Given the description of an element on the screen output the (x, y) to click on. 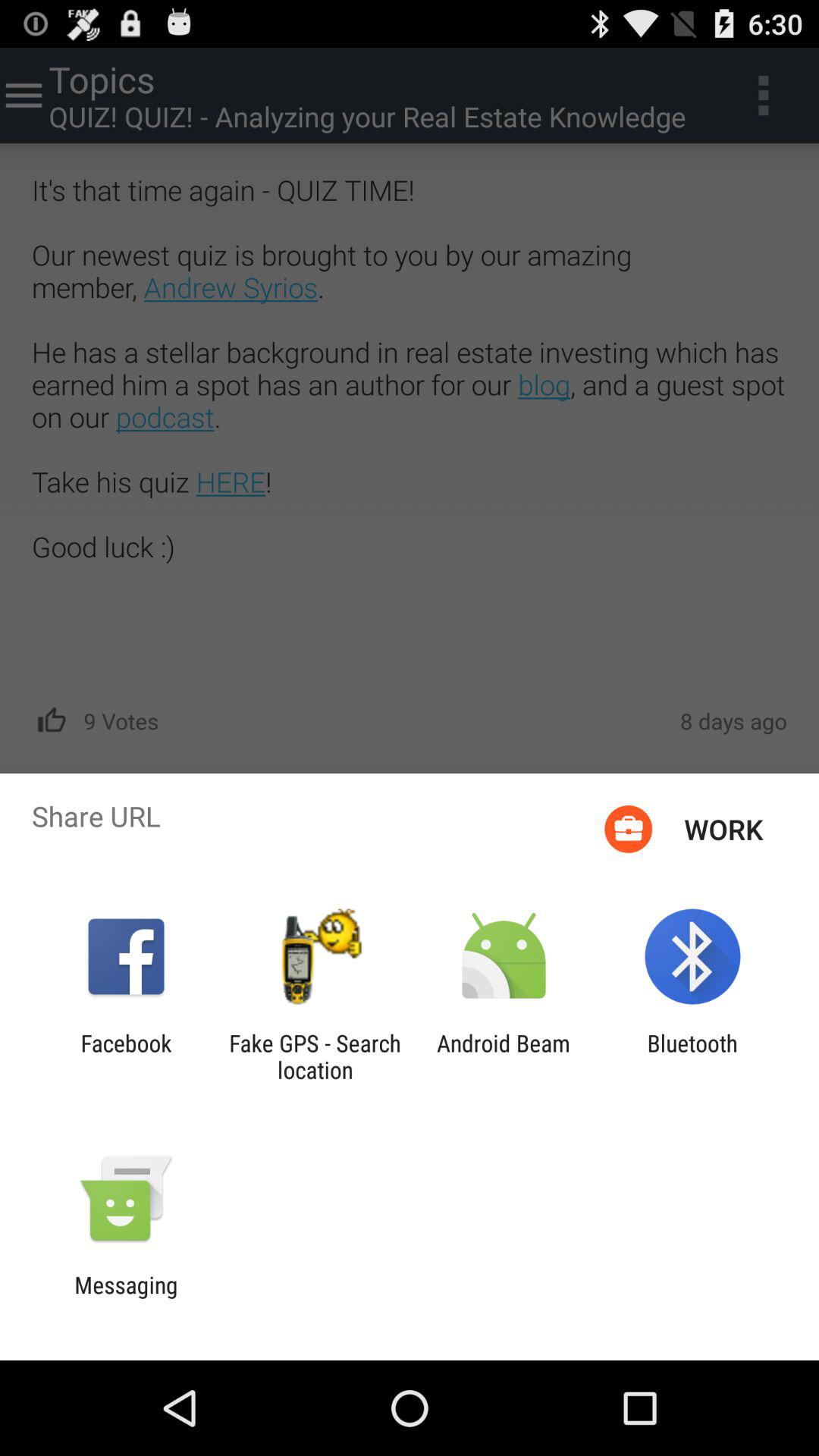
press item next to bluetooth item (503, 1056)
